Given the description of an element on the screen output the (x, y) to click on. 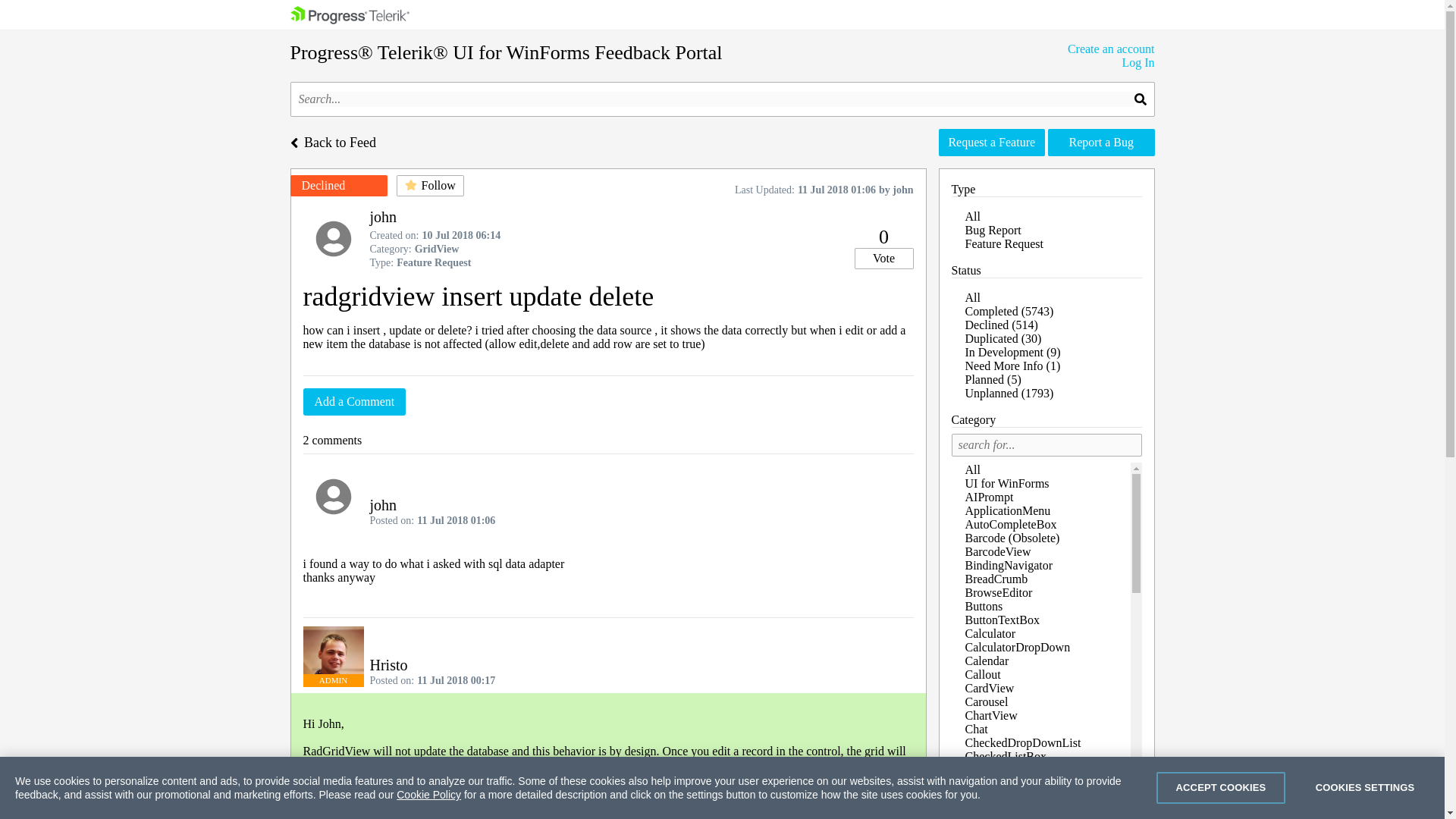
AIPrompt (988, 496)
UI for WinForms (1005, 483)
Log In (1110, 62)
Back to Feed (332, 141)
BindingNavigator (1007, 565)
Request a Feature (992, 142)
Bug Report (991, 229)
BreadCrumb (995, 578)
ApplicationMenu (1006, 510)
All (971, 216)
Vote (882, 258)
All (971, 469)
Create an account (1110, 49)
Add a Comment (354, 401)
All (971, 297)
